Given the description of an element on the screen output the (x, y) to click on. 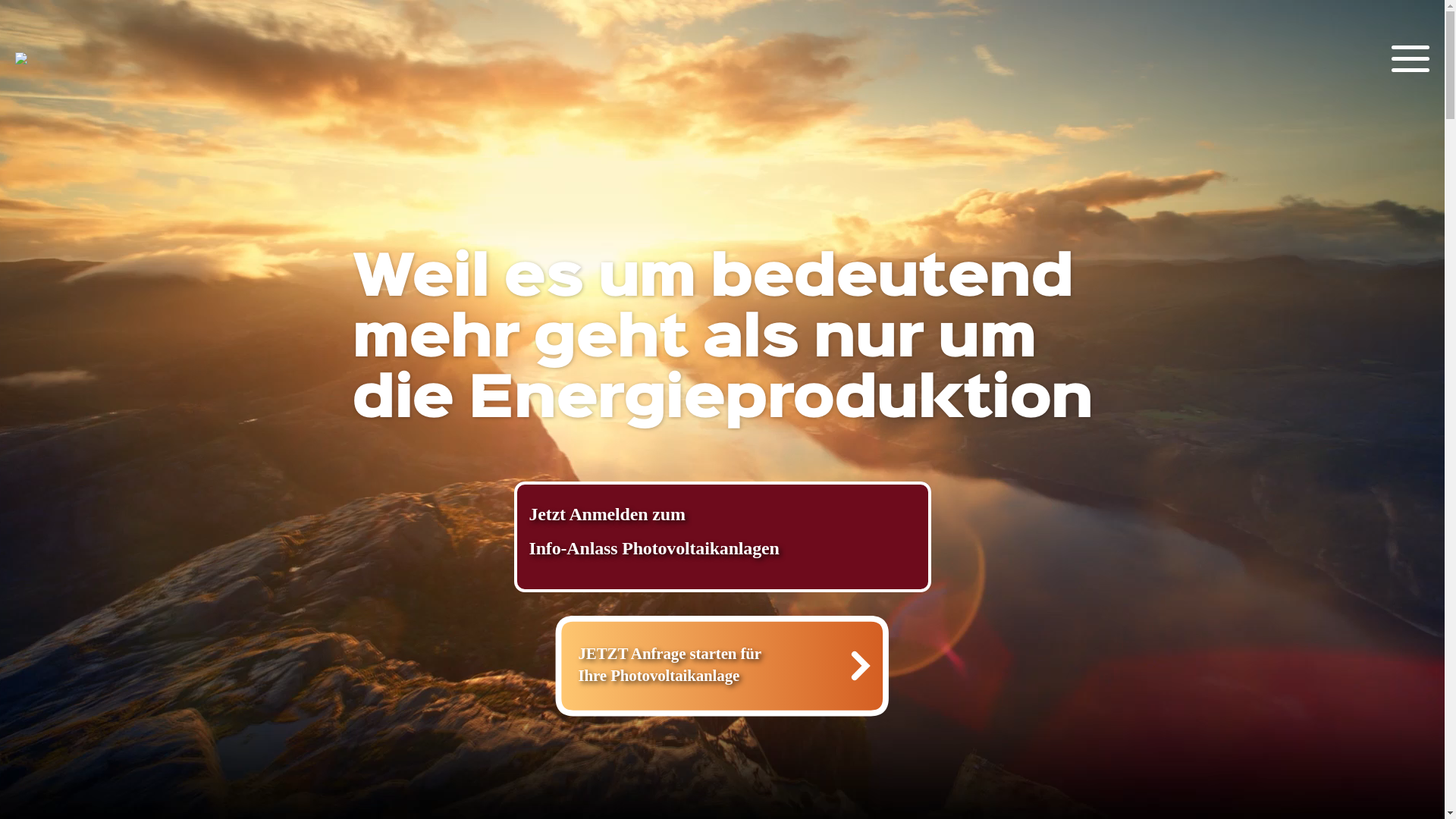
Jetzt Anmelden zum
Info-Anlass Photovoltaikanlagen Element type: text (722, 536)
